Given the description of an element on the screen output the (x, y) to click on. 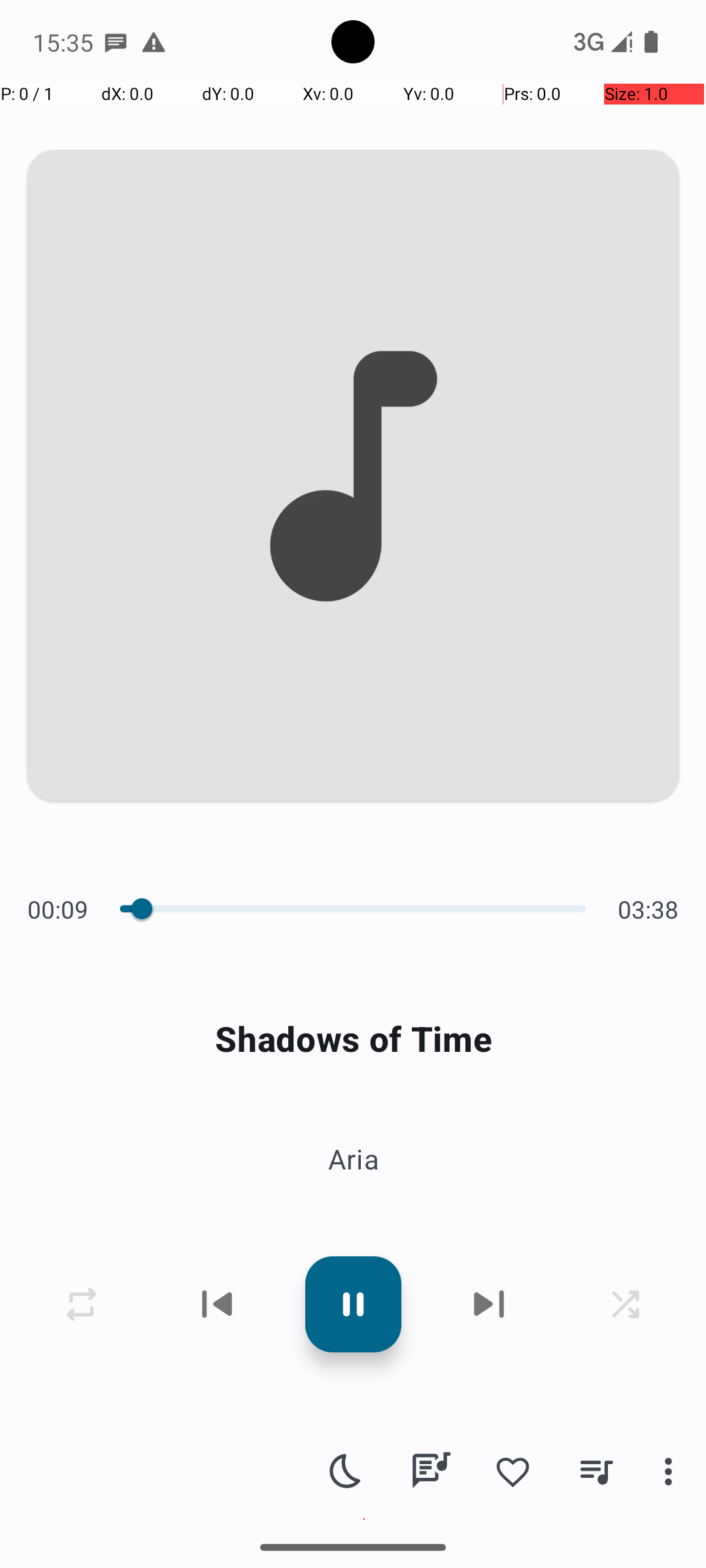
Last added Element type: android.widget.TextView (190, 137)
00:09 Element type: android.widget.TextView (61, 908)
03:38 Element type: android.widget.TextView (643, 908)
Shadows of Time Element type: android.widget.TextView (352, 1038)
Aria Element type: android.widget.TextView (352, 1158)
Sleep timer Element type: android.widget.Button (346, 1471)
Lyrics Element type: android.widget.Button (429, 1471)
Add to favorites Element type: android.widget.Button (512, 1471)
Now playing queue Element type: android.widget.Button (595, 1471)
Value, 8005 Element type: android.widget.SeekBar (139, 908)
Play all Element type: android.widget.Button (186, 234)
Shuffle Element type: android.widget.Button (519, 234)
Forever Young Element type: android.widget.TextView (363, 429)
Alice Element type: android.widget.TextView (363, 472)
Golden Days Element type: android.widget.TextView (363, 546)
Heartbeat Away Element type: android.widget.TextView (363, 662)
Theo Element type: android.widget.TextView (363, 704)
Distant Memories Element type: android.widget.TextView (363, 778)
Sara Element type: android.widget.TextView (363, 821)
Waves of Change Element type: android.widget.TextView (363, 895)
Laura Element type: android.widget.TextView (363, 937)
Night Drive Element type: android.widget.TextView (363, 1011)
Jack Element type: android.widget.TextView (363, 1053)
Beyond the Horizon Element type: android.widget.TextView (363, 1127)
Ian Element type: android.widget.TextView (363, 1170)
Silent Dreams Element type: android.widget.TextView (363, 1243)
Amelia Element type: android.widget.TextView (363, 1286)
Return to Paradise Element type: android.widget.TextView (363, 1360)
Martina Element type: android.widget.TextView (363, 1402)
Path to Zenith Element type: android.widget.TextView (363, 1476)
Henry Element type: android.widget.TextView (363, 1518)
